Given the description of an element on the screen output the (x, y) to click on. 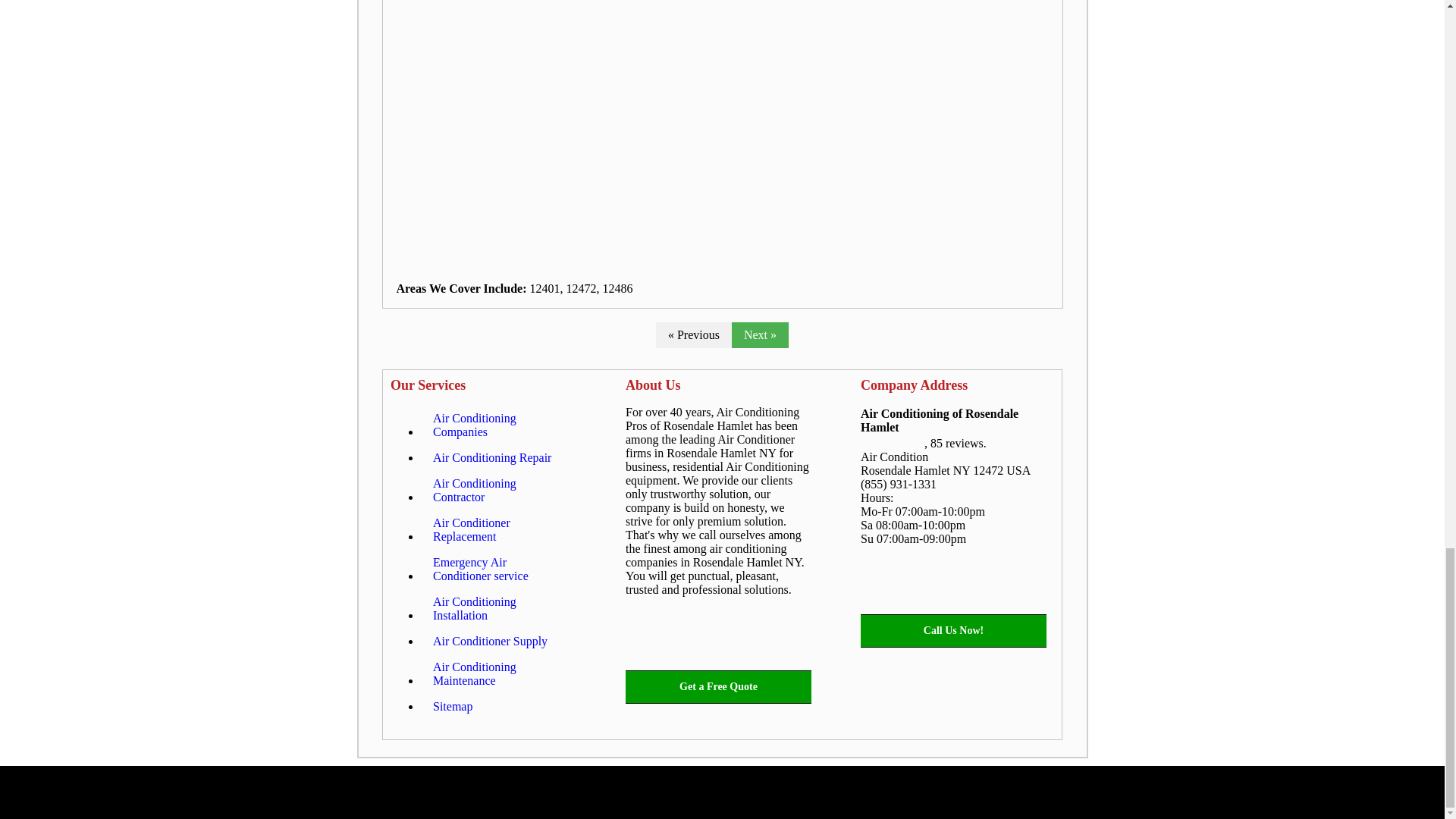
Get a Free Quote (718, 686)
Air Conditioning Maintenance (498, 673)
Air Conditioning Installation (498, 608)
Air Conditioning Companies (498, 425)
Air Conditioner Replacement (498, 529)
Air Conditioning Repair (491, 457)
Emergency Air Conditioner service (498, 568)
Air Conditioner Supply (489, 641)
Sitemap (452, 706)
Air Conditioning Contractor (498, 490)
Call Us Now! (953, 630)
